Given the description of an element on the screen output the (x, y) to click on. 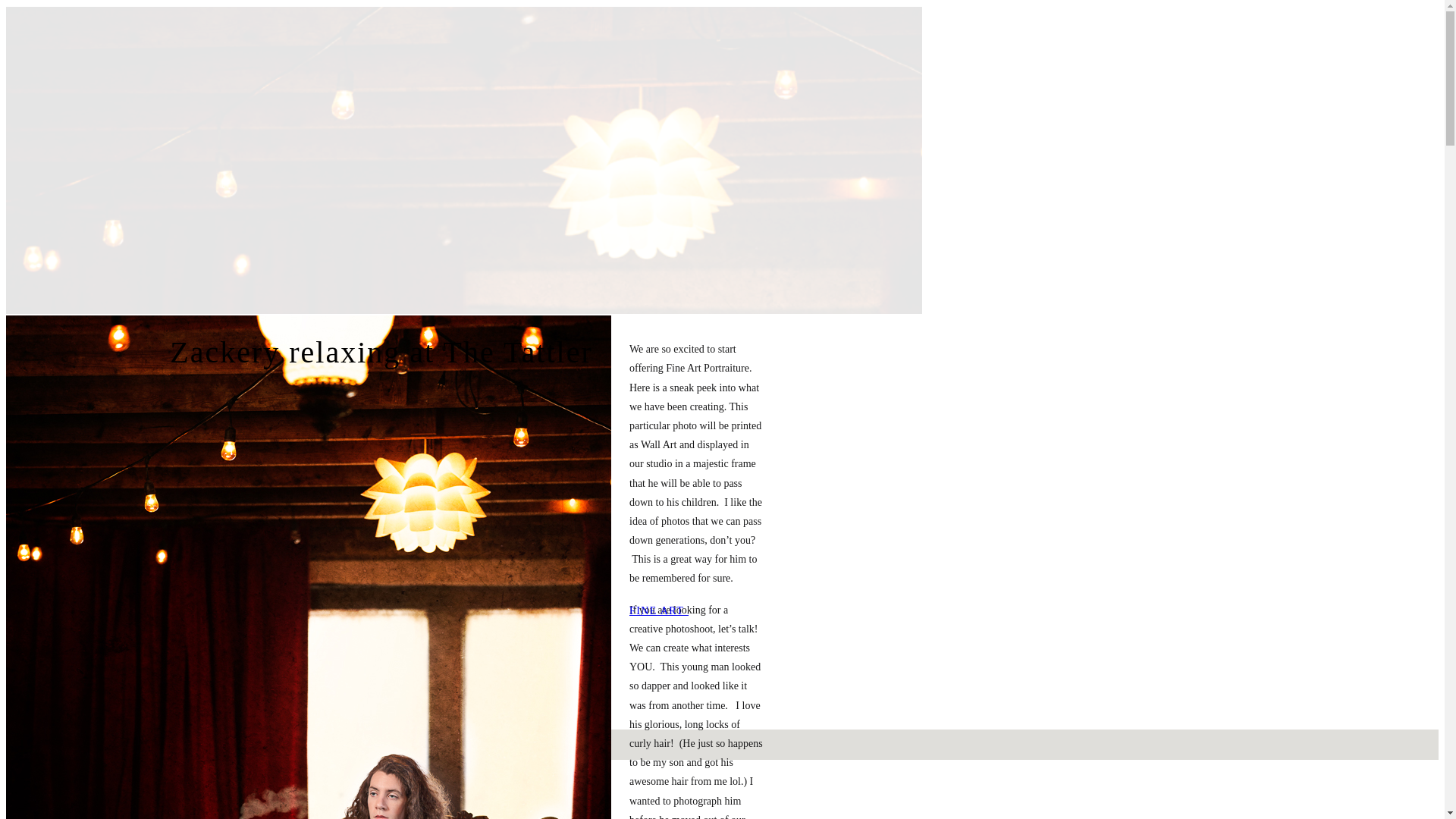
FINE ART PHOTOGRAPHY (702, 610)
